Given the description of an element on the screen output the (x, y) to click on. 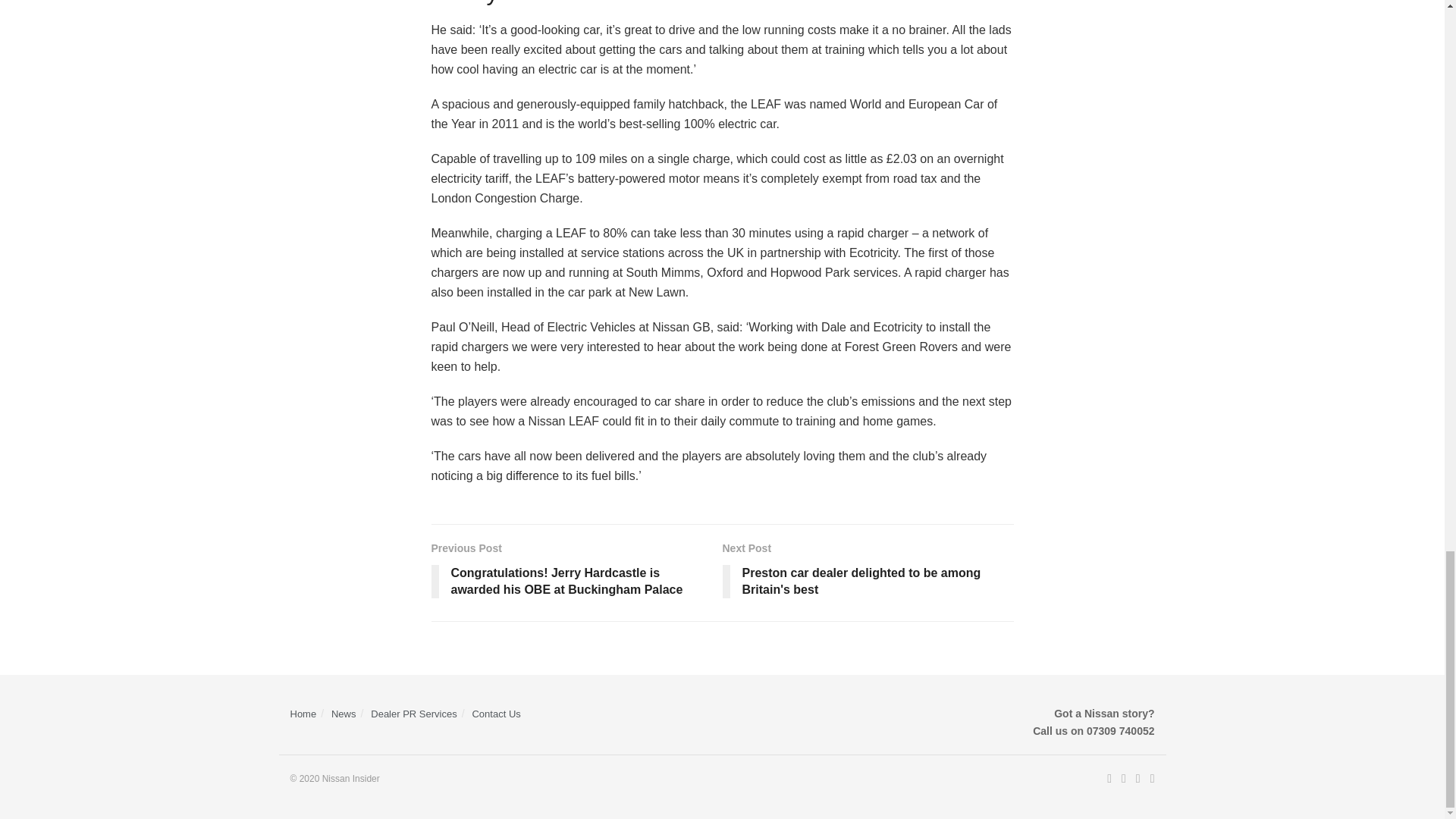
Home (302, 713)
Dealer PR Services (414, 713)
News (343, 713)
Contact Us (495, 713)
